Given the description of an element on the screen output the (x, y) to click on. 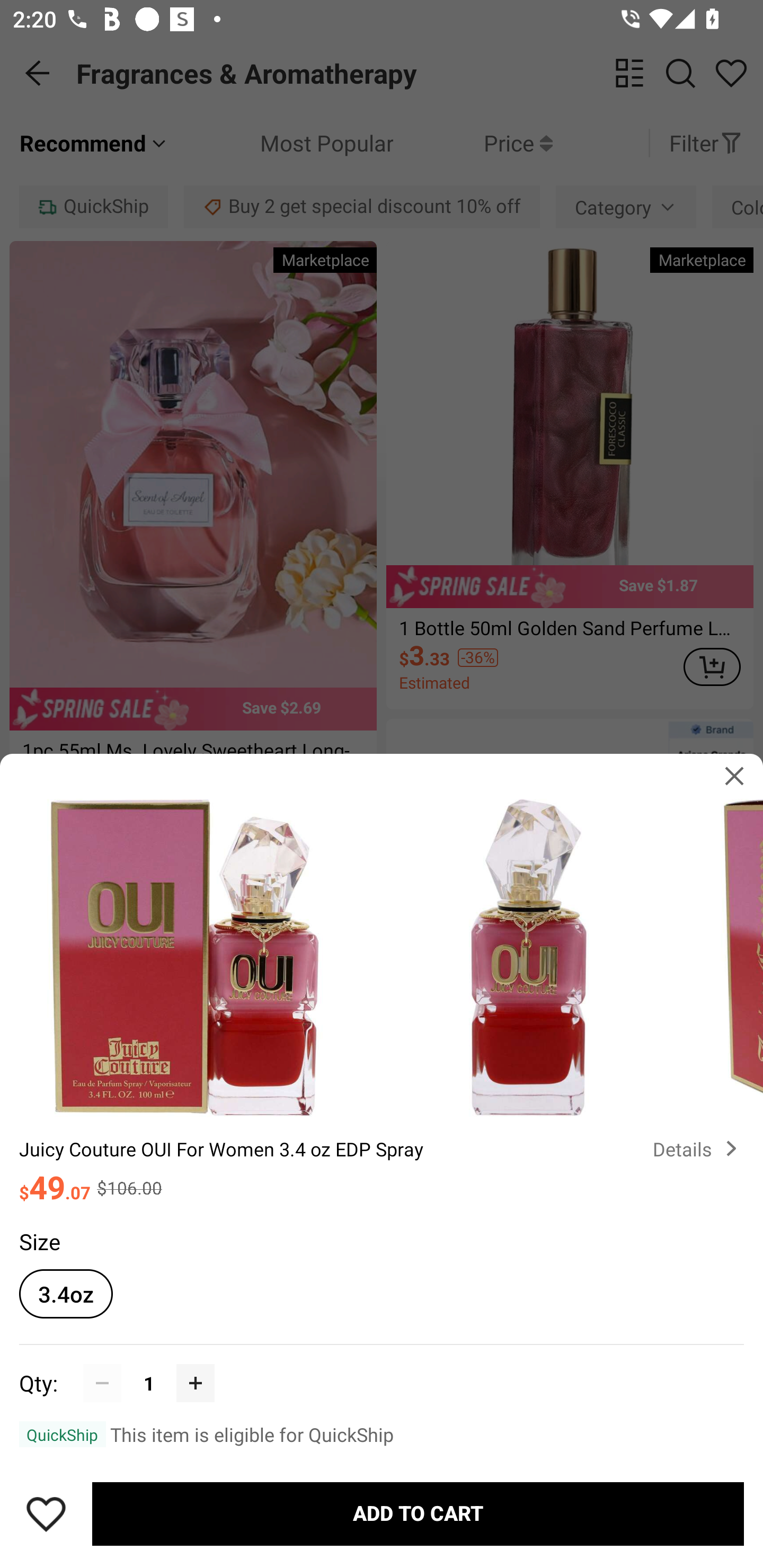
Details (698, 1148)
Size (39, 1240)
3.4oz 3.4ozselected option (65, 1293)
ADD TO CART (417, 1513)
Save (46, 1513)
